Given the description of an element on the screen output the (x, y) to click on. 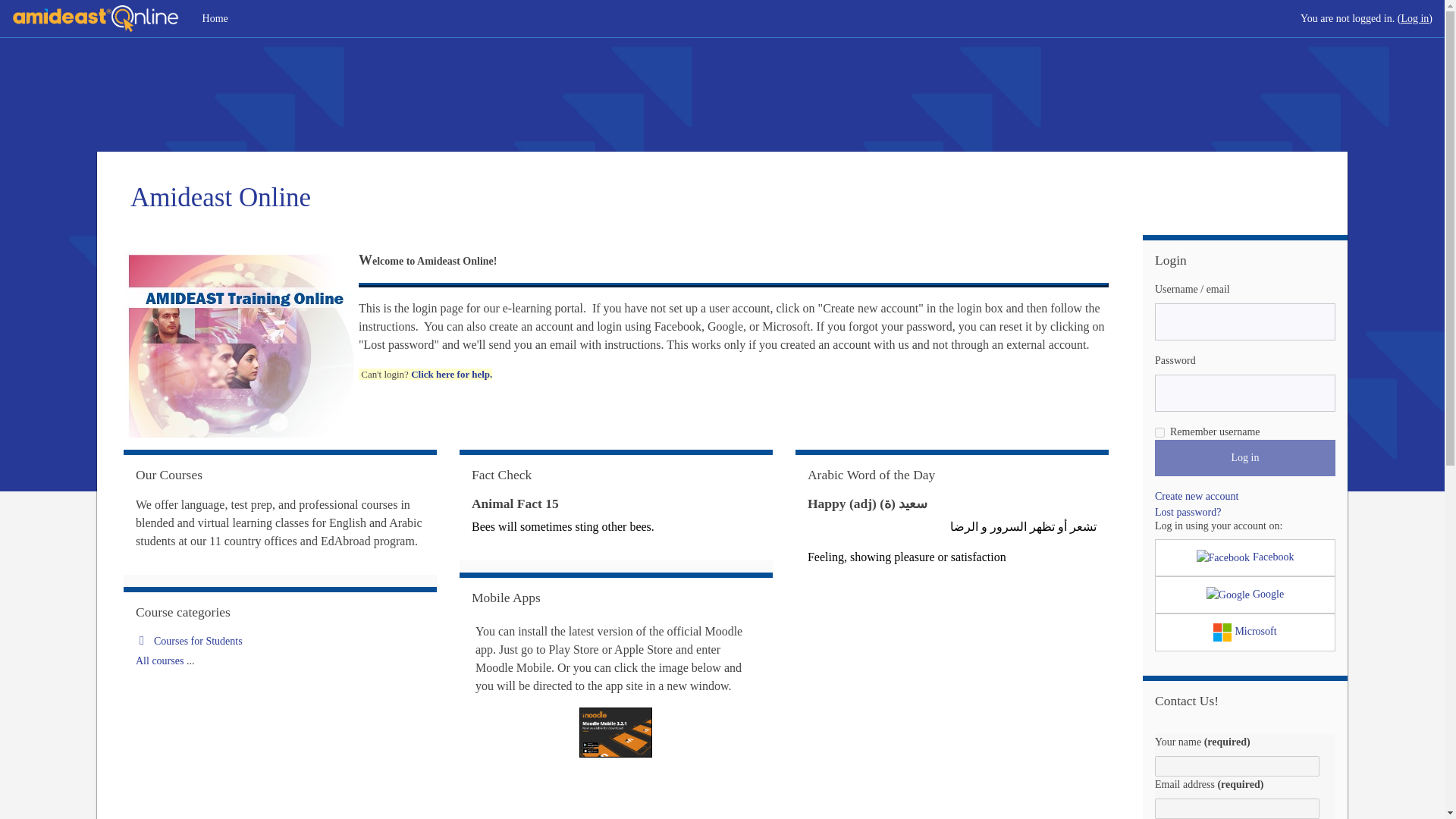
Google (1244, 594)
Lost password? (1187, 511)
Log in (1244, 457)
Microsoft (1244, 632)
Google (1244, 594)
Microsoft (1244, 632)
Home (215, 18)
Log in (1244, 457)
Create new account (1196, 496)
1 (1159, 432)
Log in (1414, 17)
Click here for help. (451, 374)
Facebook (1244, 557)
Courses for Students (189, 641)
Amideast Online (221, 200)
